Given the description of an element on the screen output the (x, y) to click on. 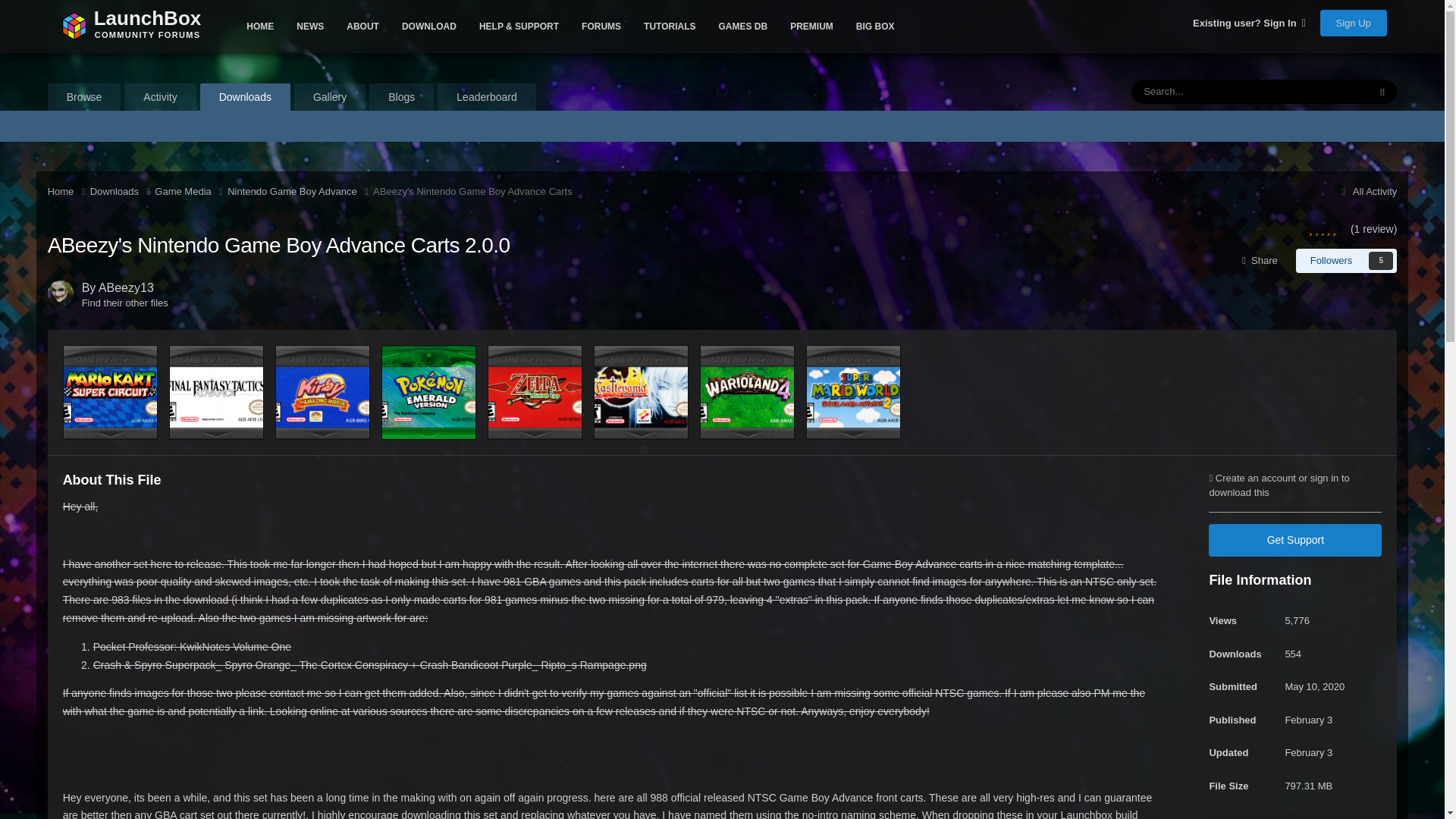
Sign Up (1353, 22)
NEWS (309, 26)
Existing user? Sign In   (1249, 22)
Browse (84, 96)
Go to ABeezy13's profile (126, 287)
Sign in to follow this (1346, 260)
HOME (259, 26)
Gallery (329, 96)
Leaderboard (486, 96)
DOWNLOAD (428, 26)
ABOUT (362, 26)
Go to ABeezy13's profile (61, 293)
Downloads (131, 26)
Activity (244, 96)
